Given the description of an element on the screen output the (x, y) to click on. 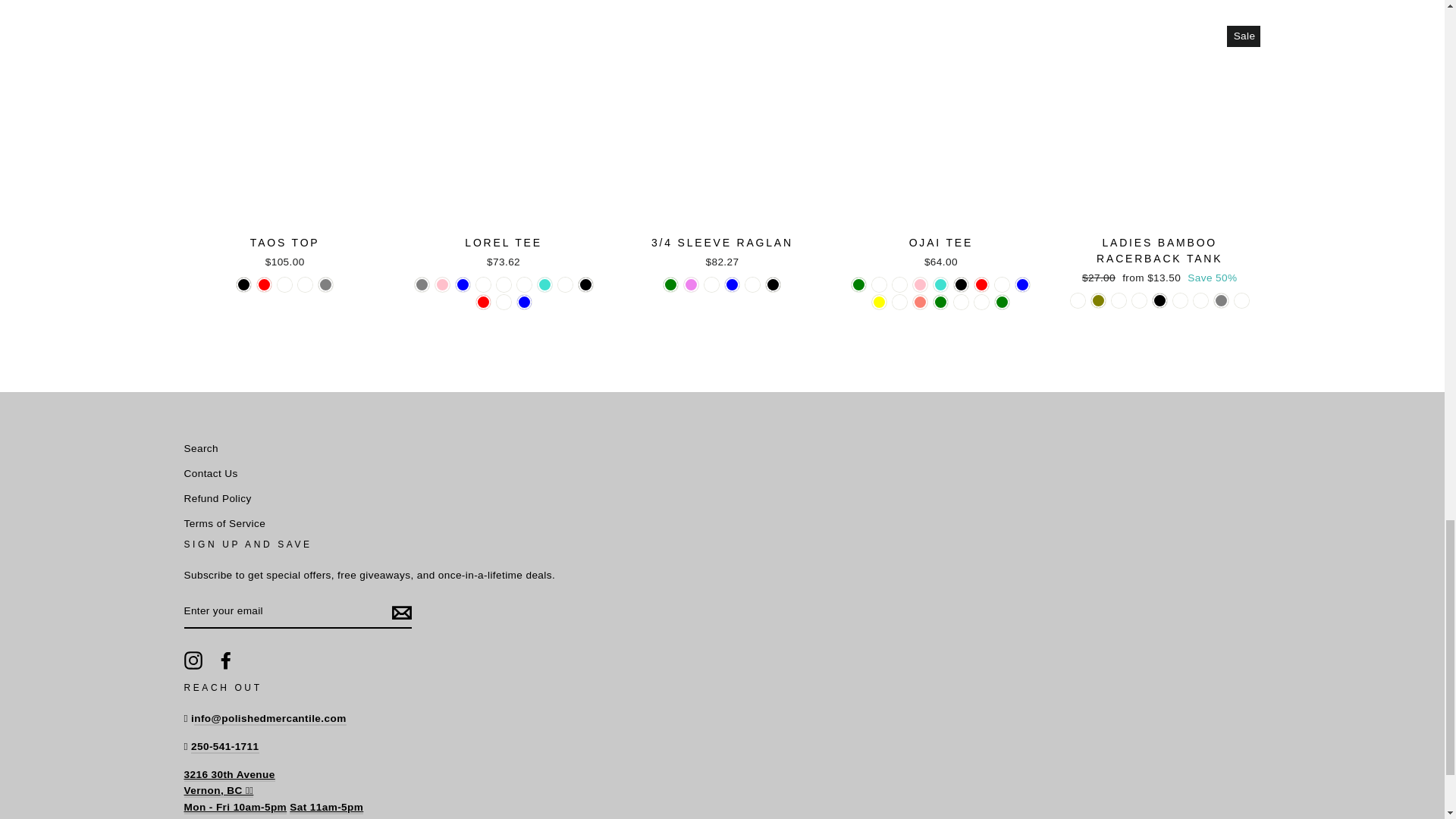
Polished Mercantile on Facebook (225, 660)
Polished Mercantile on Instagram (192, 660)
